Given the description of an element on the screen output the (x, y) to click on. 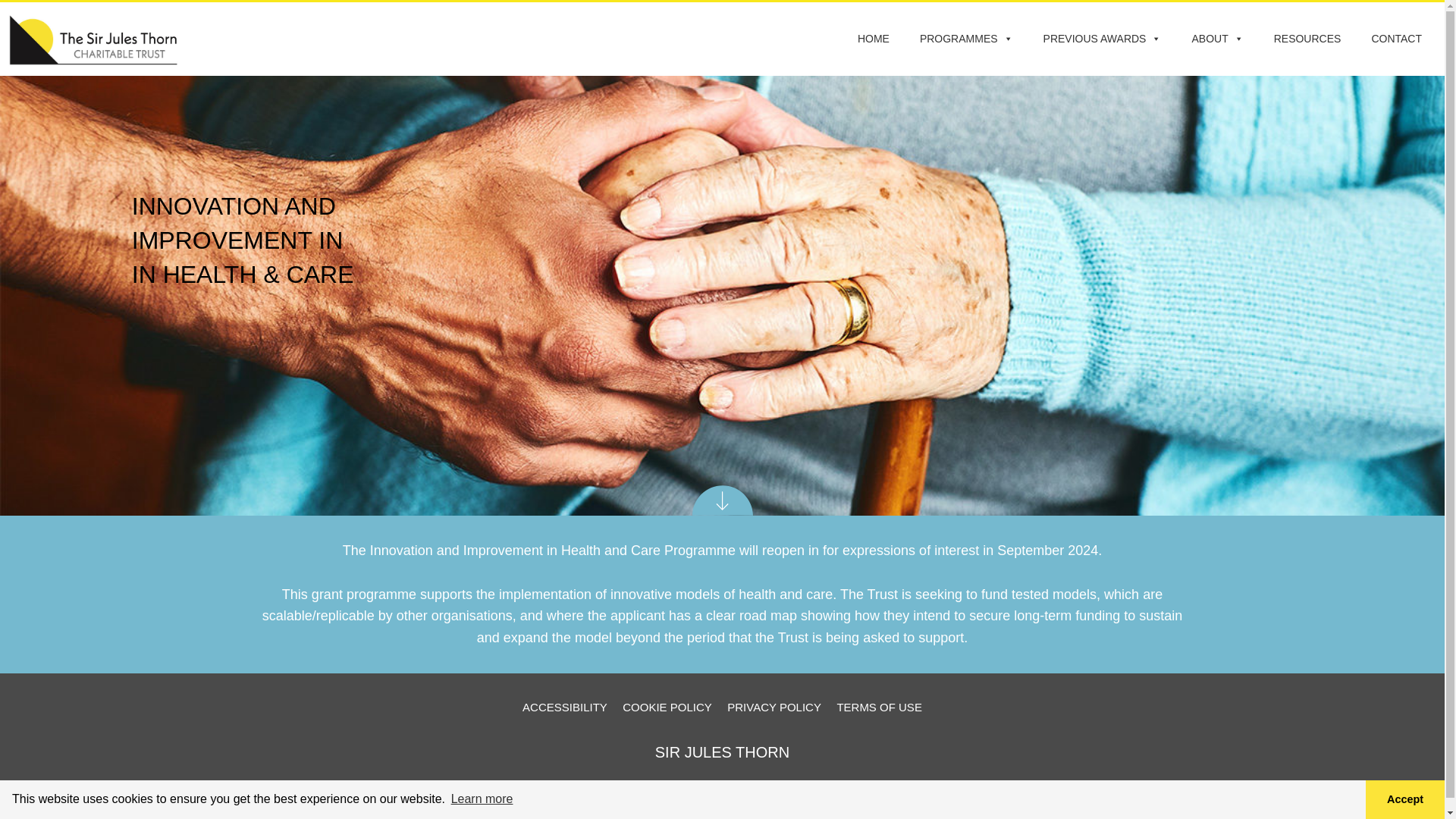
PREVIOUS AWARDS (1102, 39)
PROGRAMMES (966, 39)
Learn more (481, 798)
